Given the description of an element on the screen output the (x, y) to click on. 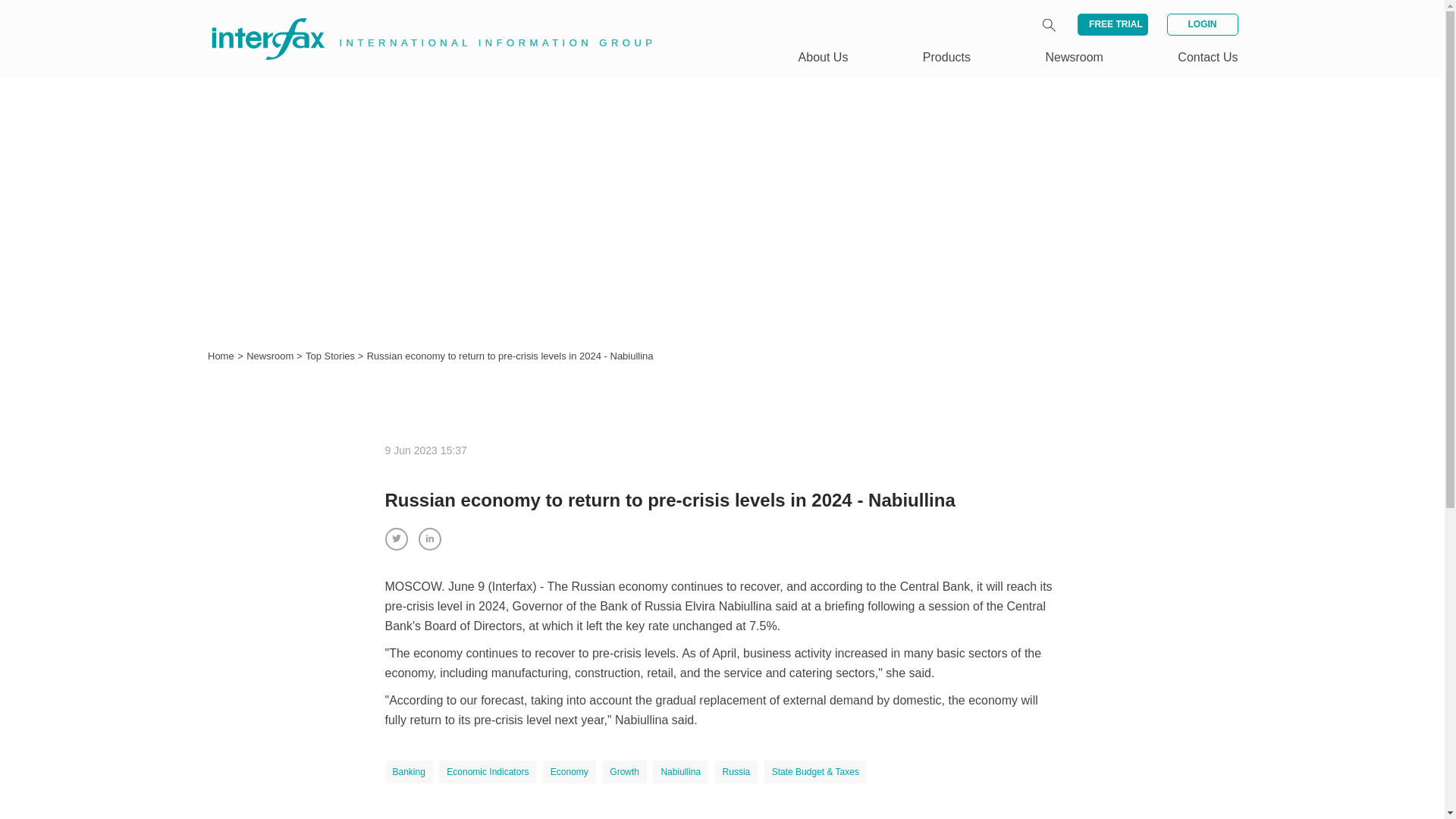
INTERNATIONAL INFORMATION GROUP (421, 20)
Newsroom (271, 355)
FREE TRIAL (1112, 24)
Economy (569, 771)
Products (947, 56)
Banking (408, 771)
Contact Us (1207, 56)
Newsroom (1073, 56)
Contact Us (1207, 56)
Top Stories (331, 355)
Economic Indicators (487, 771)
Newsroom (271, 355)
About Us (822, 56)
Growth (624, 771)
Home (221, 355)
